Given the description of an element on the screen output the (x, y) to click on. 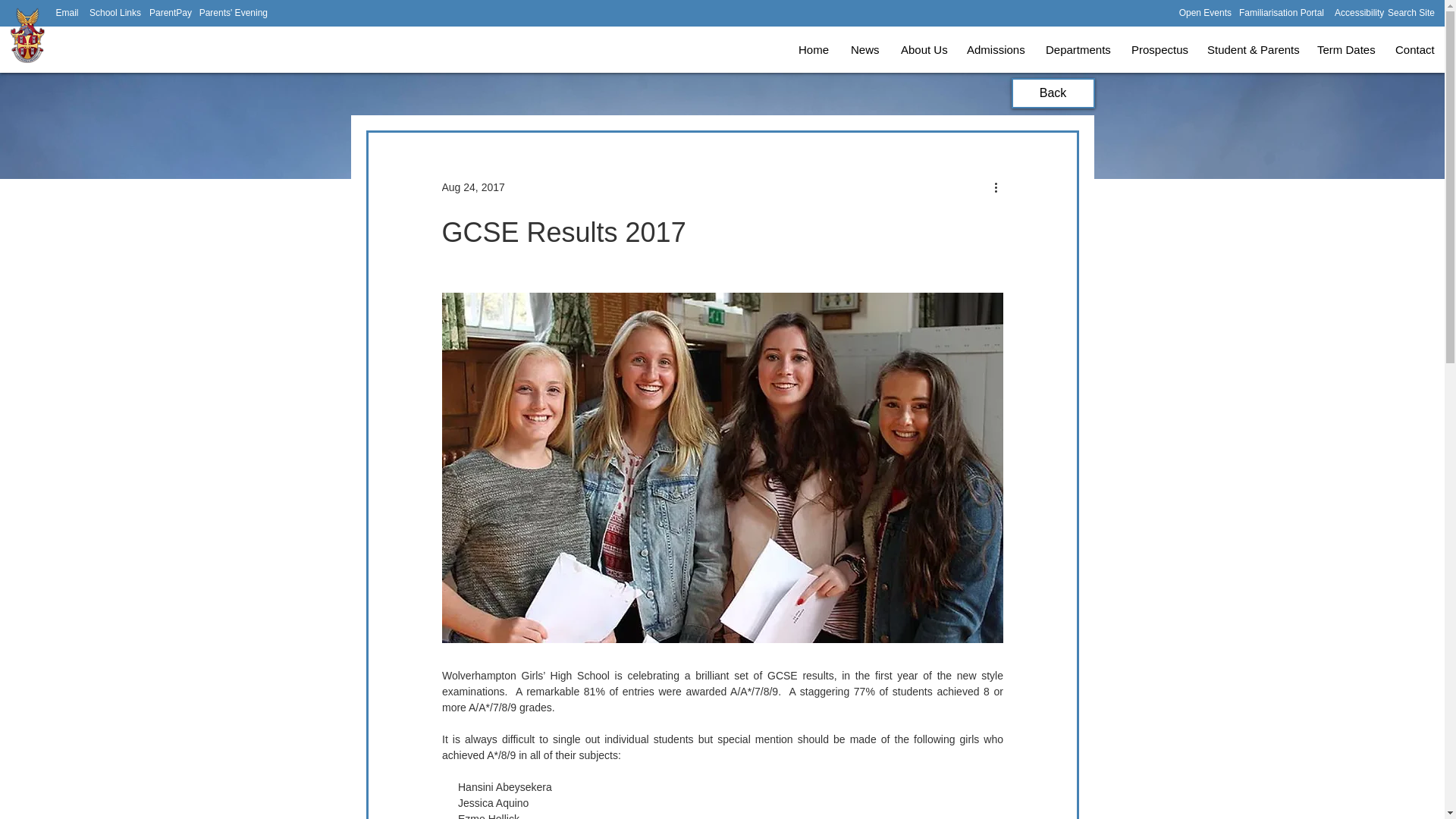
ParentPay (170, 12)
About Us (922, 50)
Parents' Evening (231, 12)
Prospectus (1157, 50)
Email (66, 12)
Admissions (994, 50)
School Links (114, 12)
Aug 24, 2017 (472, 186)
Departments (1076, 50)
News (864, 50)
